Given the description of an element on the screen output the (x, y) to click on. 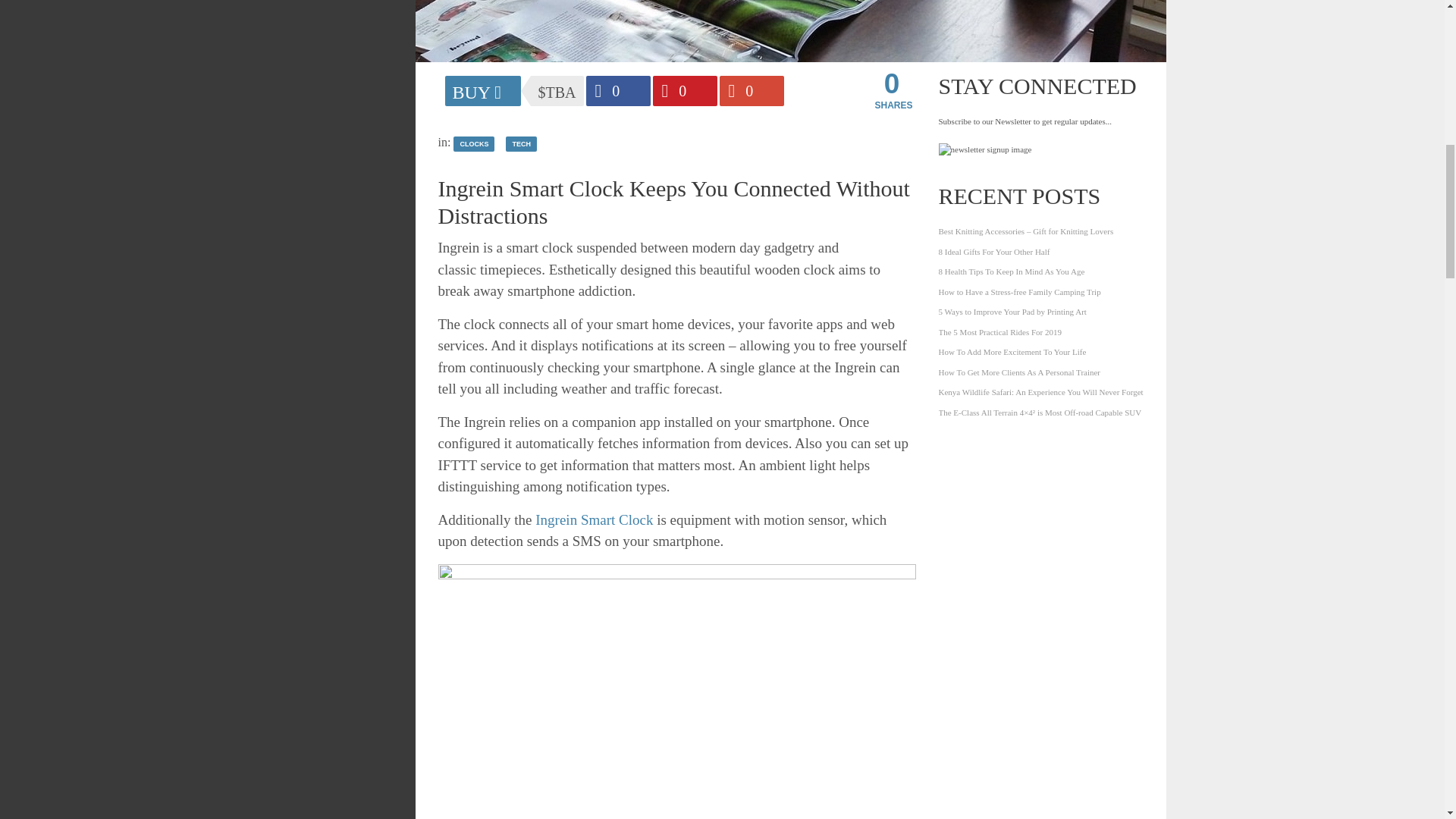
Facebook (617, 91)
Pinterest (684, 91)
GooglePlus (751, 91)
